Given the description of an element on the screen output the (x, y) to click on. 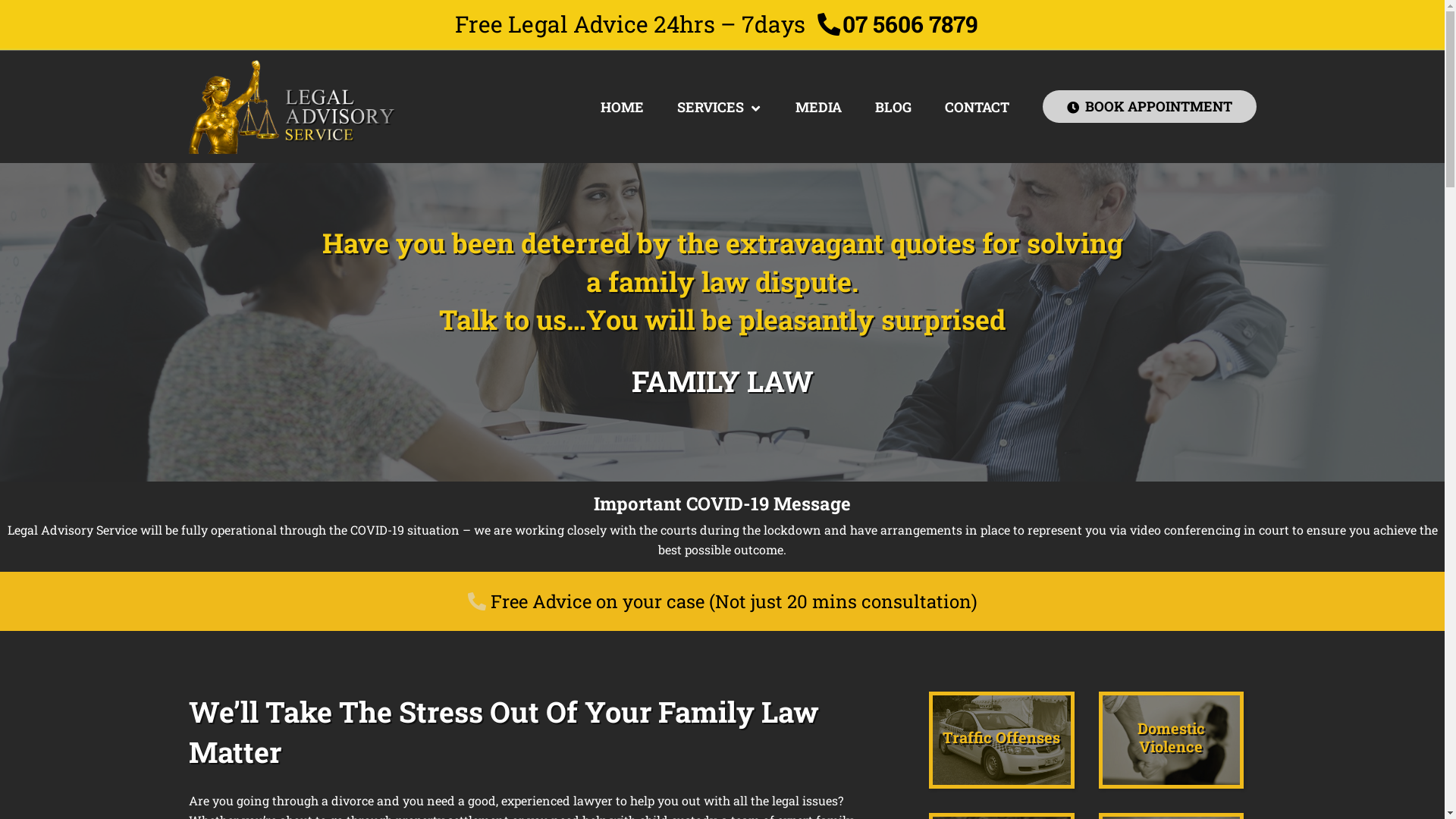
SERVICES Element type: text (718, 106)
MEDIA Element type: text (817, 106)
HOME Element type: text (621, 106)
BOOK APPOINTMENT Element type: text (1148, 106)
Traffic Offenses Element type: text (1001, 739)
CONTACT Element type: text (976, 106)
07 5606 7879 Element type: text (897, 28)
Domestic Violence Element type: text (1170, 739)
Free Advice on your case (Not just 20 mins consultation) Element type: text (722, 600)
BLOG Element type: text (893, 106)
